Given the description of an element on the screen output the (x, y) to click on. 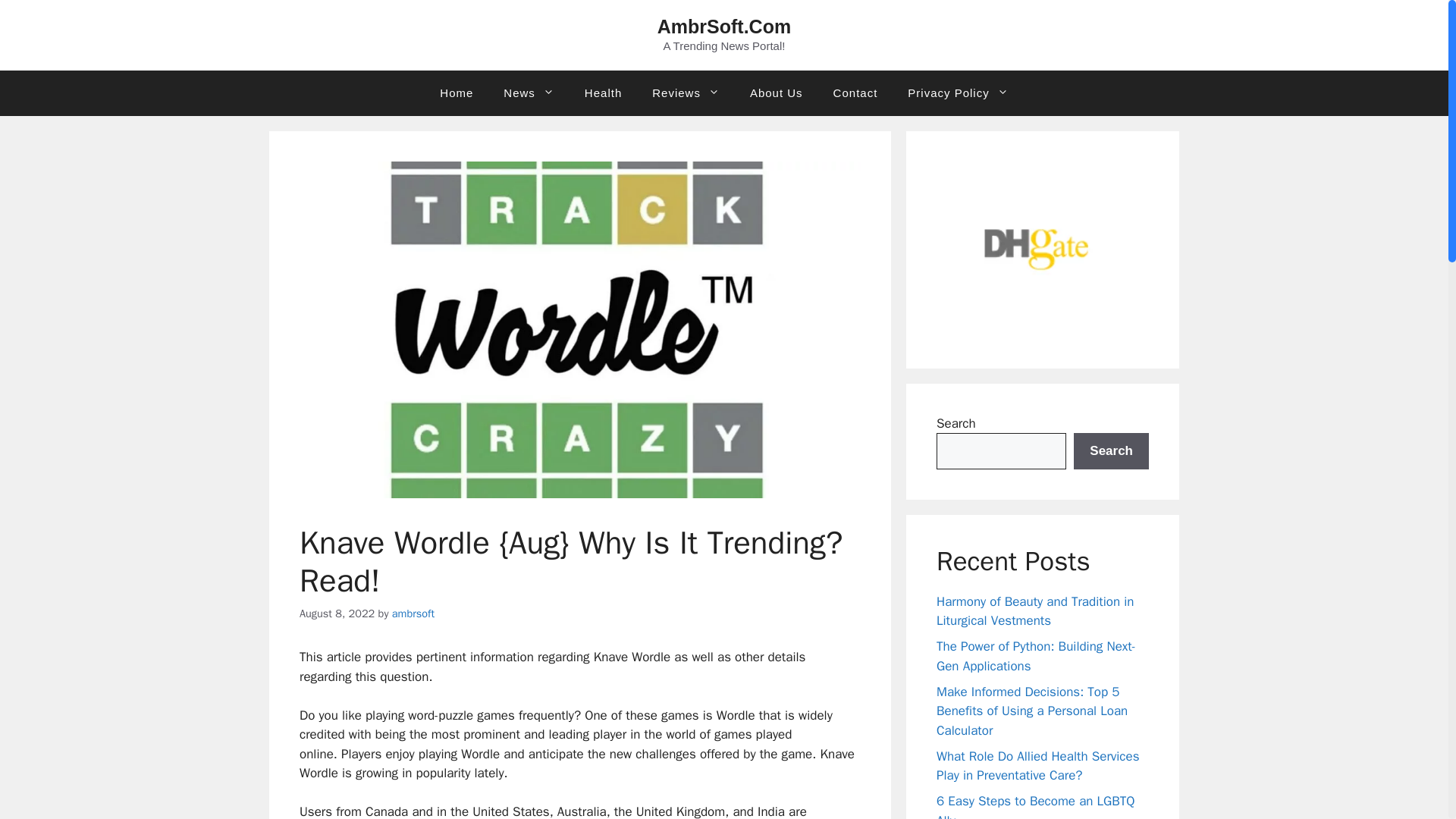
6 Easy Steps to Become an LGBTQ Ally (1035, 806)
View all posts by ambrsoft (412, 612)
News (528, 92)
ambrsoft (412, 612)
The Power of Python: Building Next-Gen Applications (1035, 656)
Reviews (686, 92)
Search (1111, 451)
AmbrSoft.Com (724, 25)
Health (603, 92)
Contact (855, 92)
Harmony of Beauty and Tradition in Liturgical Vestments (1035, 611)
Privacy Policy (957, 92)
About Us (776, 92)
Home (456, 92)
